Given the description of an element on the screen output the (x, y) to click on. 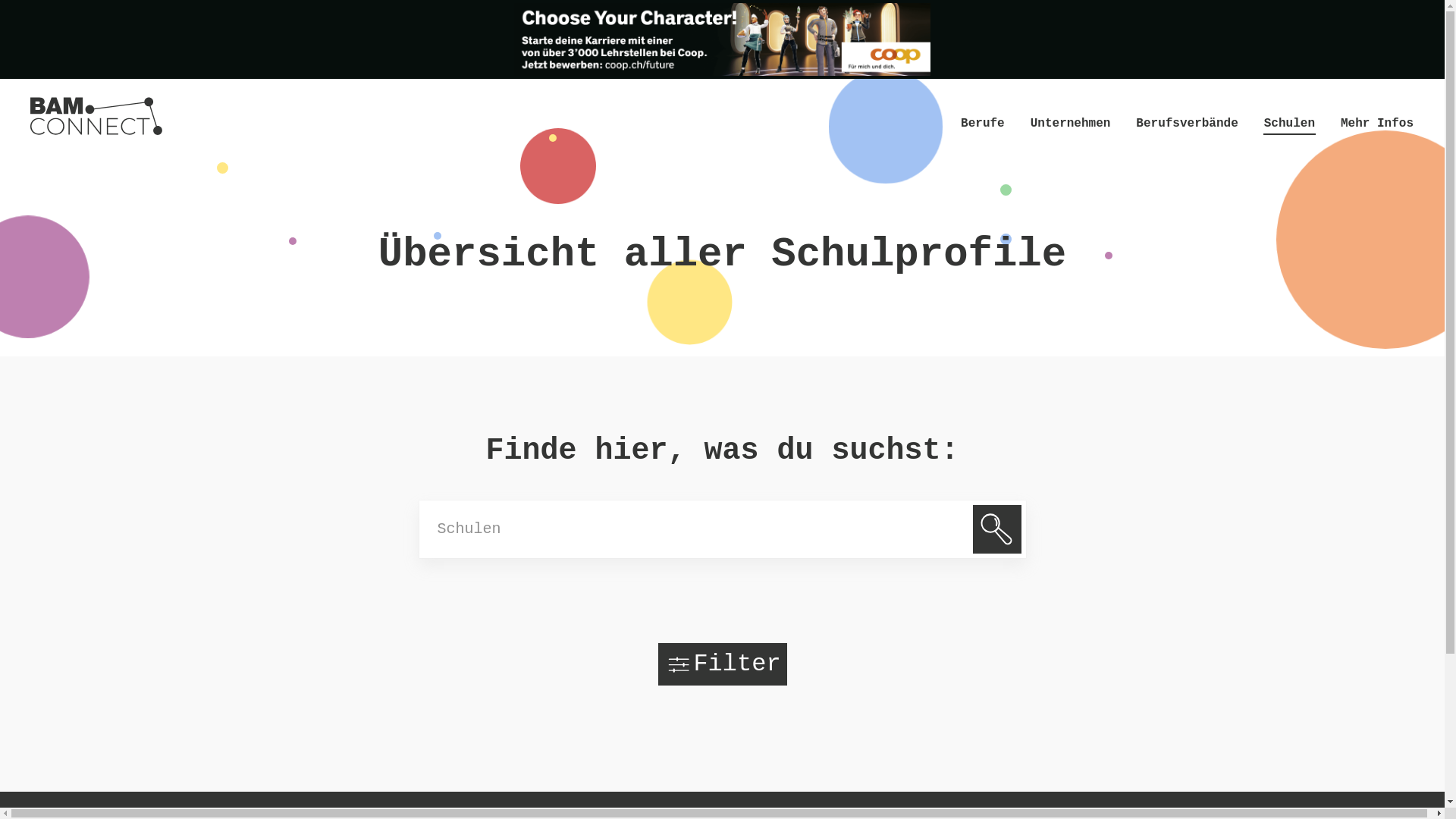
Filter Element type: text (722, 664)
Mehr Infos Element type: text (1376, 124)
